Given the description of an element on the screen output the (x, y) to click on. 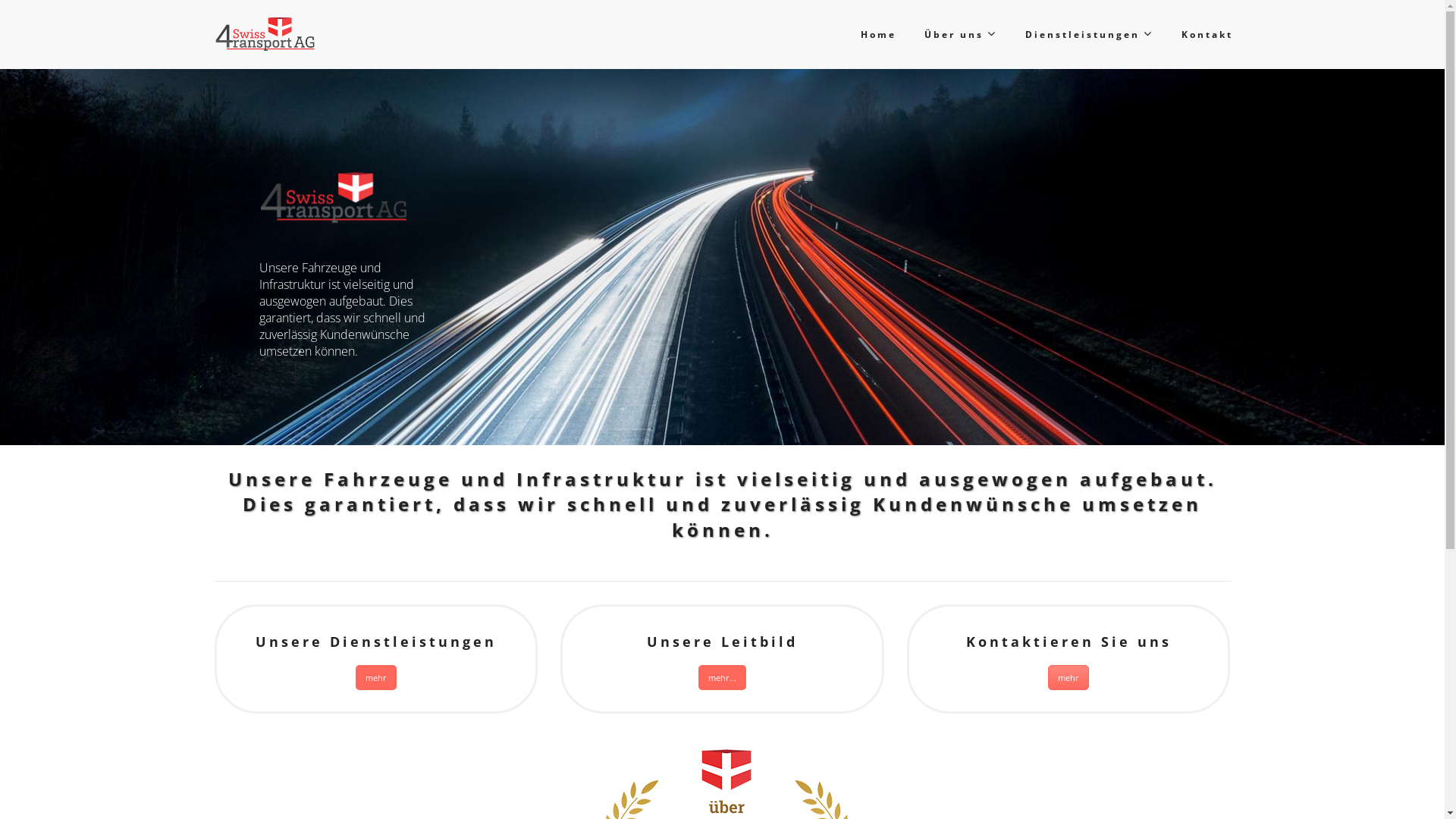
Dienstleistungen Element type: text (1088, 34)
mehr Element type: text (375, 677)
Kontakt Element type: text (1205, 34)
4 Swiss transport AG Element type: hover (264, 33)
mehr Element type: text (1068, 677)
mehr... Element type: text (722, 677)
Home Element type: text (876, 34)
